Given the description of an element on the screen output the (x, y) to click on. 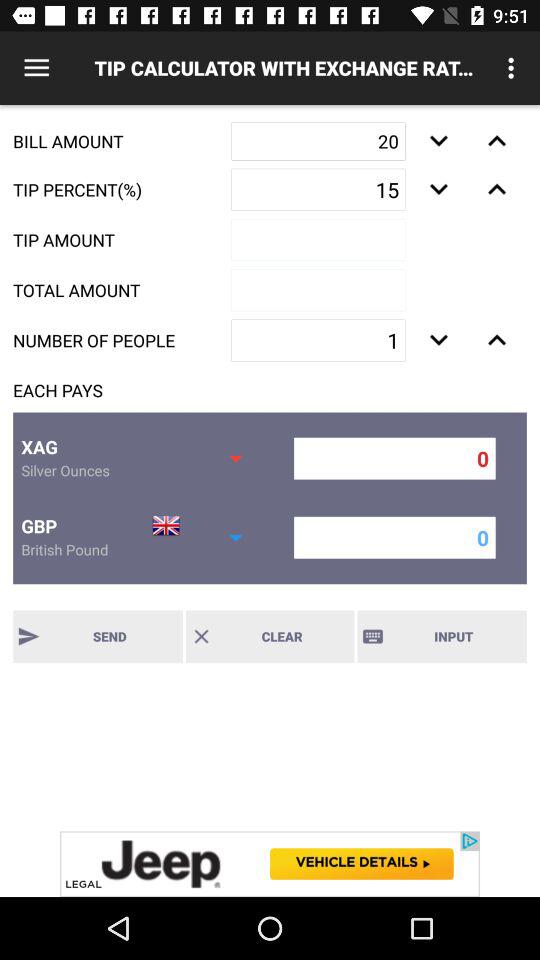
advertisement (270, 864)
